Given the description of an element on the screen output the (x, y) to click on. 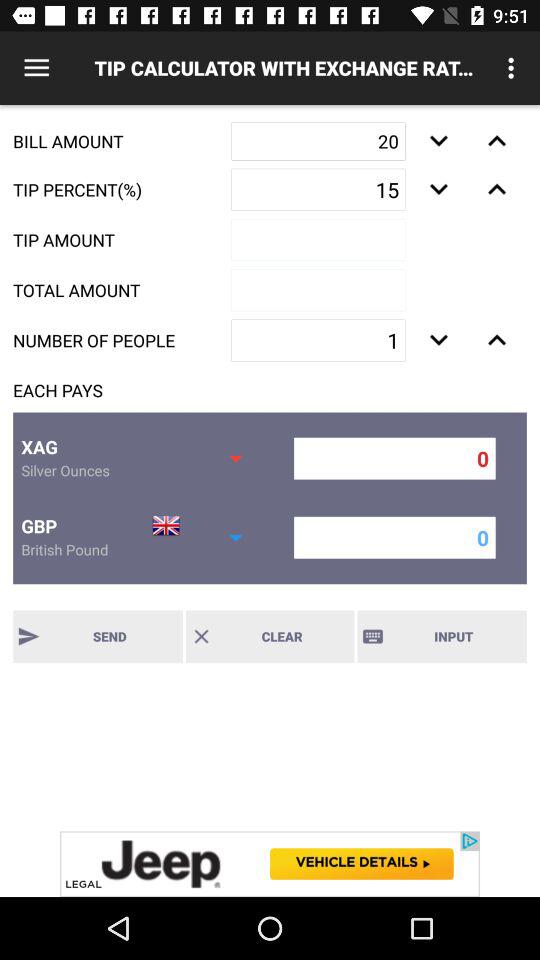
advertisement (270, 864)
